Given the description of an element on the screen output the (x, y) to click on. 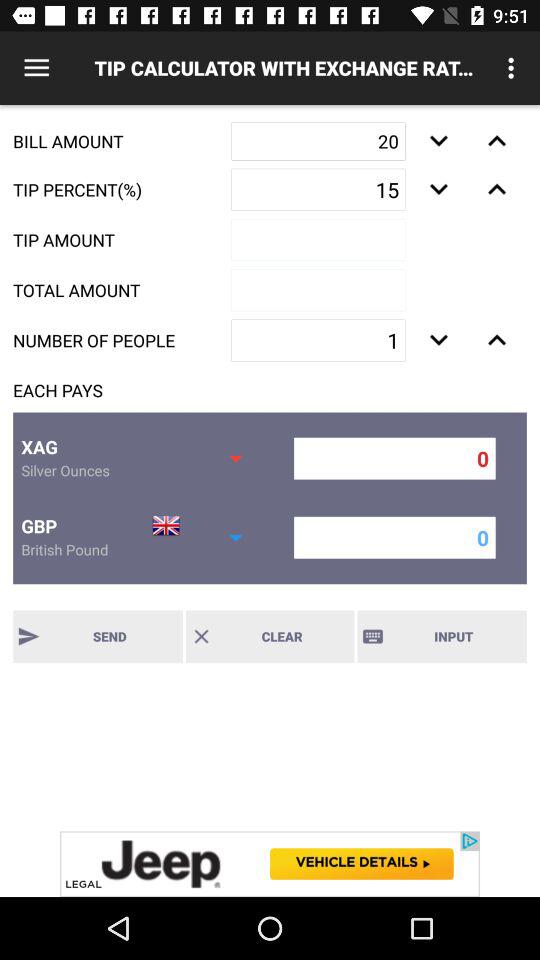
advertisement (270, 864)
